Given the description of an element on the screen output the (x, y) to click on. 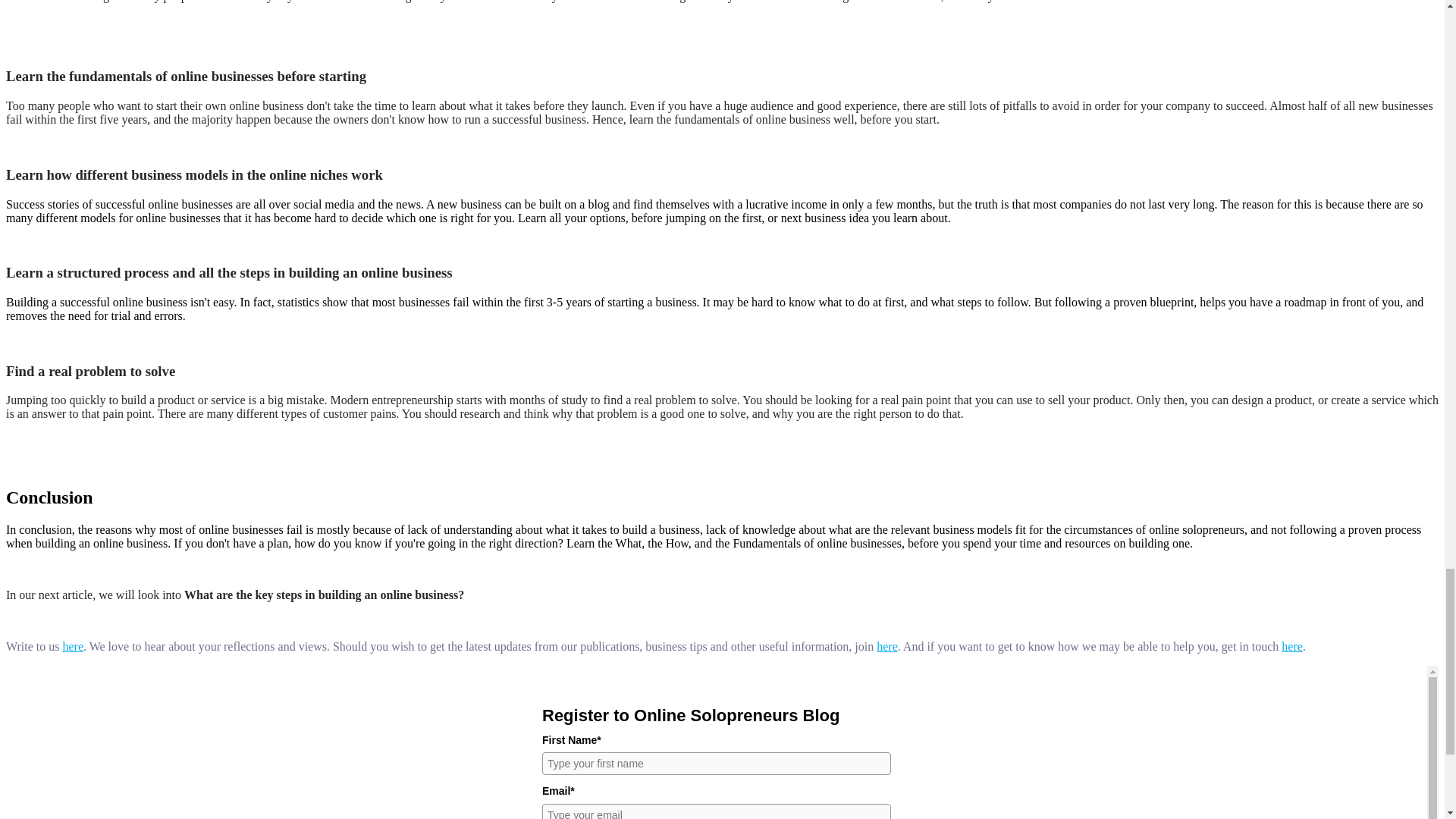
here (1292, 645)
here (887, 645)
here (72, 645)
